Given the description of an element on the screen output the (x, y) to click on. 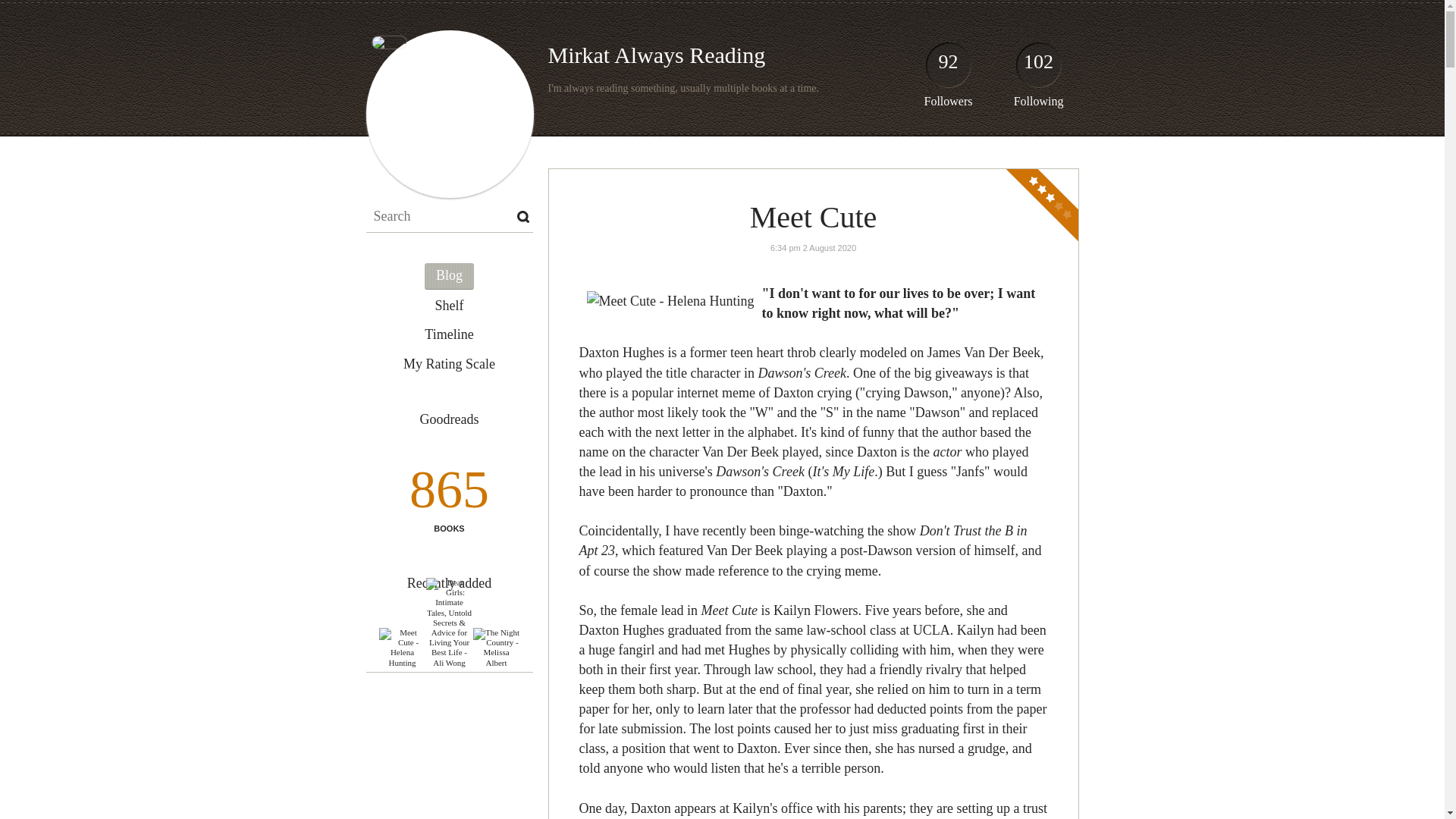
Recently added (449, 582)
Timeline (448, 335)
Meet Cute (813, 216)
865 (448, 493)
102 (1038, 67)
Blog (449, 275)
Meet Cute - Helena Hunting (402, 648)
92 (947, 67)
Goodreads (448, 420)
Mirkat Always Reading (656, 54)
